Given the description of an element on the screen output the (x, y) to click on. 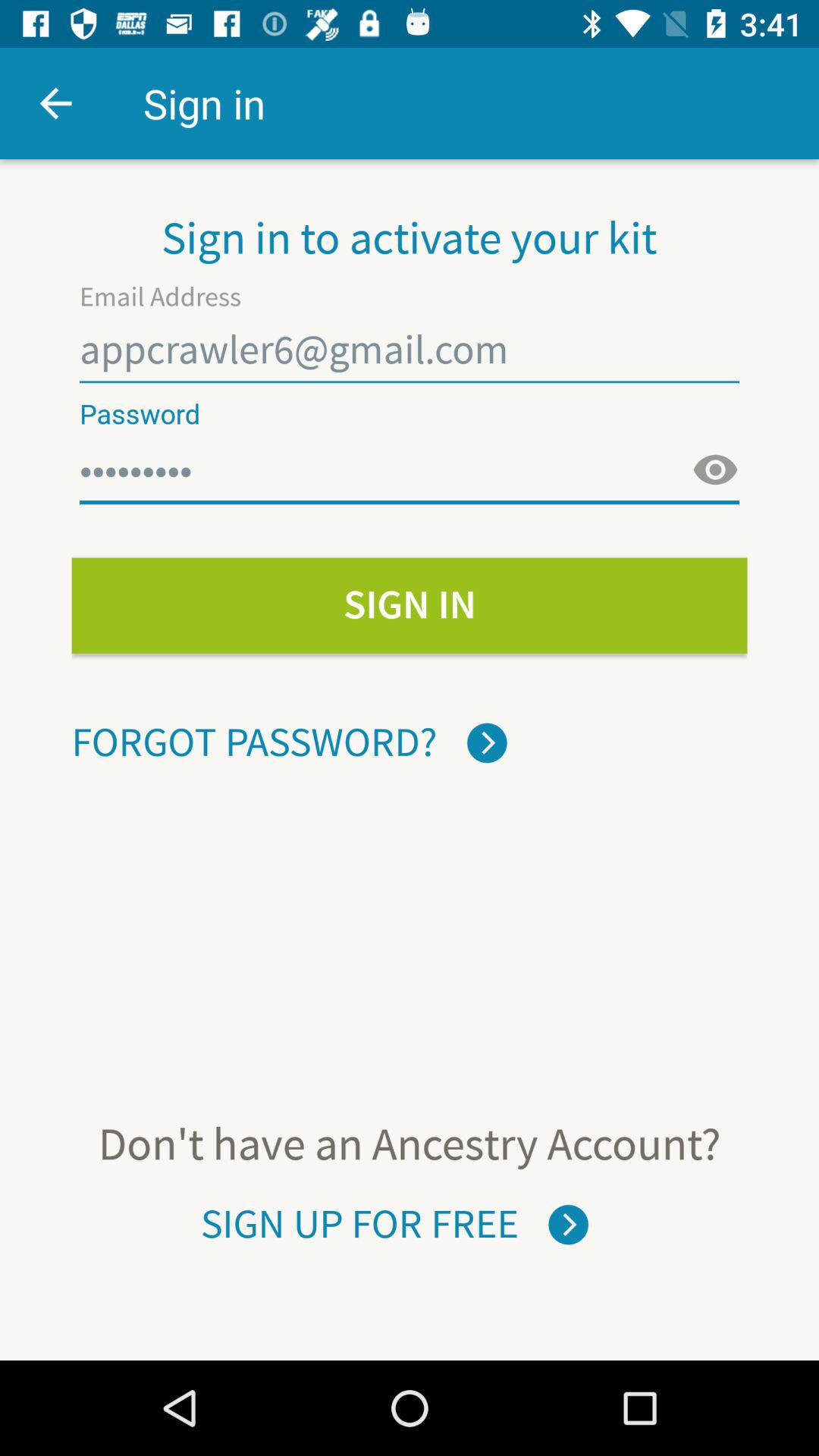
see typed password (715, 470)
